Given the description of an element on the screen output the (x, y) to click on. 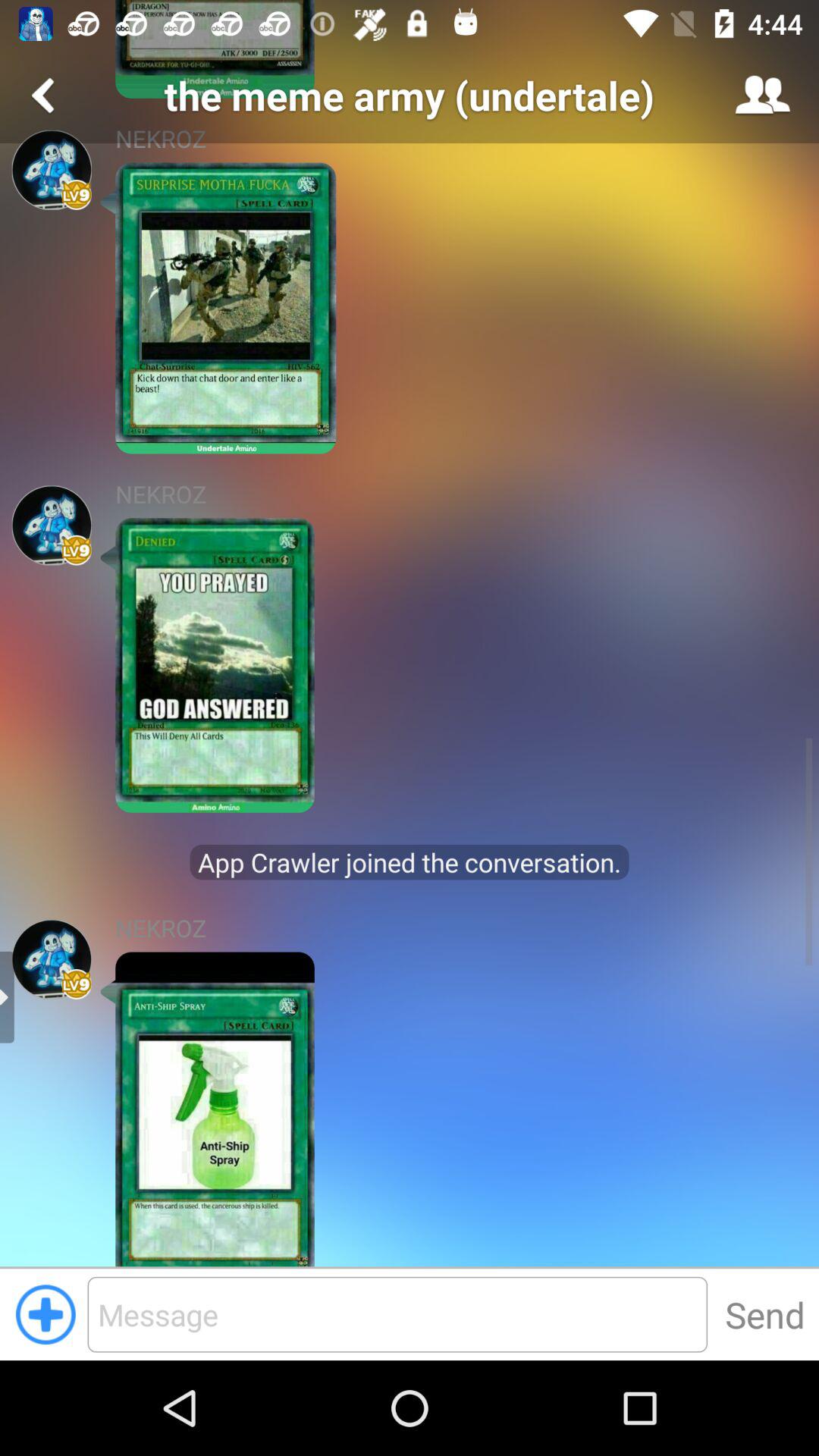
add button (45, 1314)
